Given the description of an element on the screen output the (x, y) to click on. 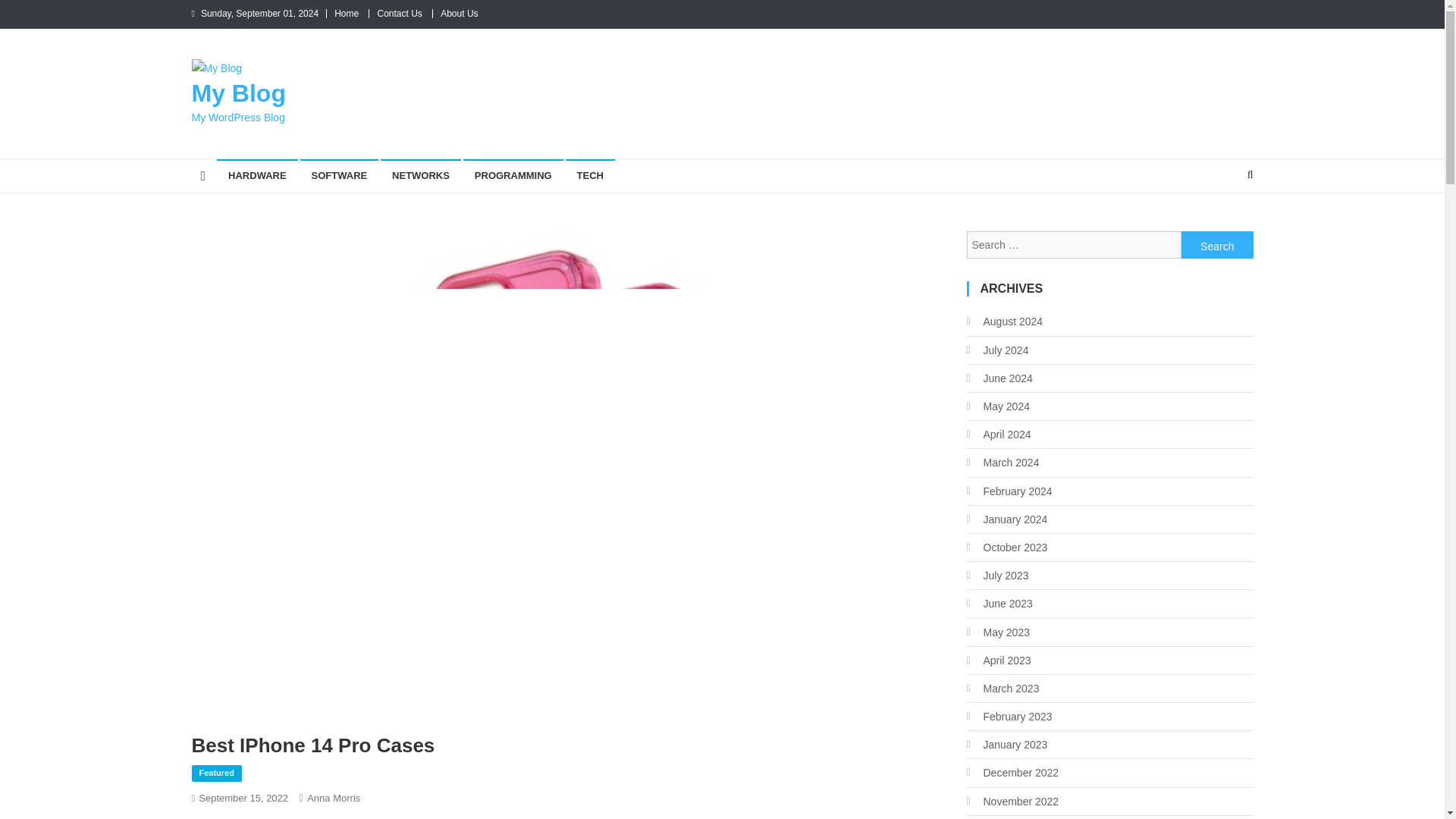
September 15, 2022 (243, 797)
Search (1216, 244)
About Us (459, 13)
Search (1216, 244)
NETWORKS (420, 175)
Anna Morris (333, 797)
May 2024 (997, 406)
PROGRAMMING (513, 175)
Search (1221, 225)
August 2024 (1004, 321)
